Given the description of an element on the screen output the (x, y) to click on. 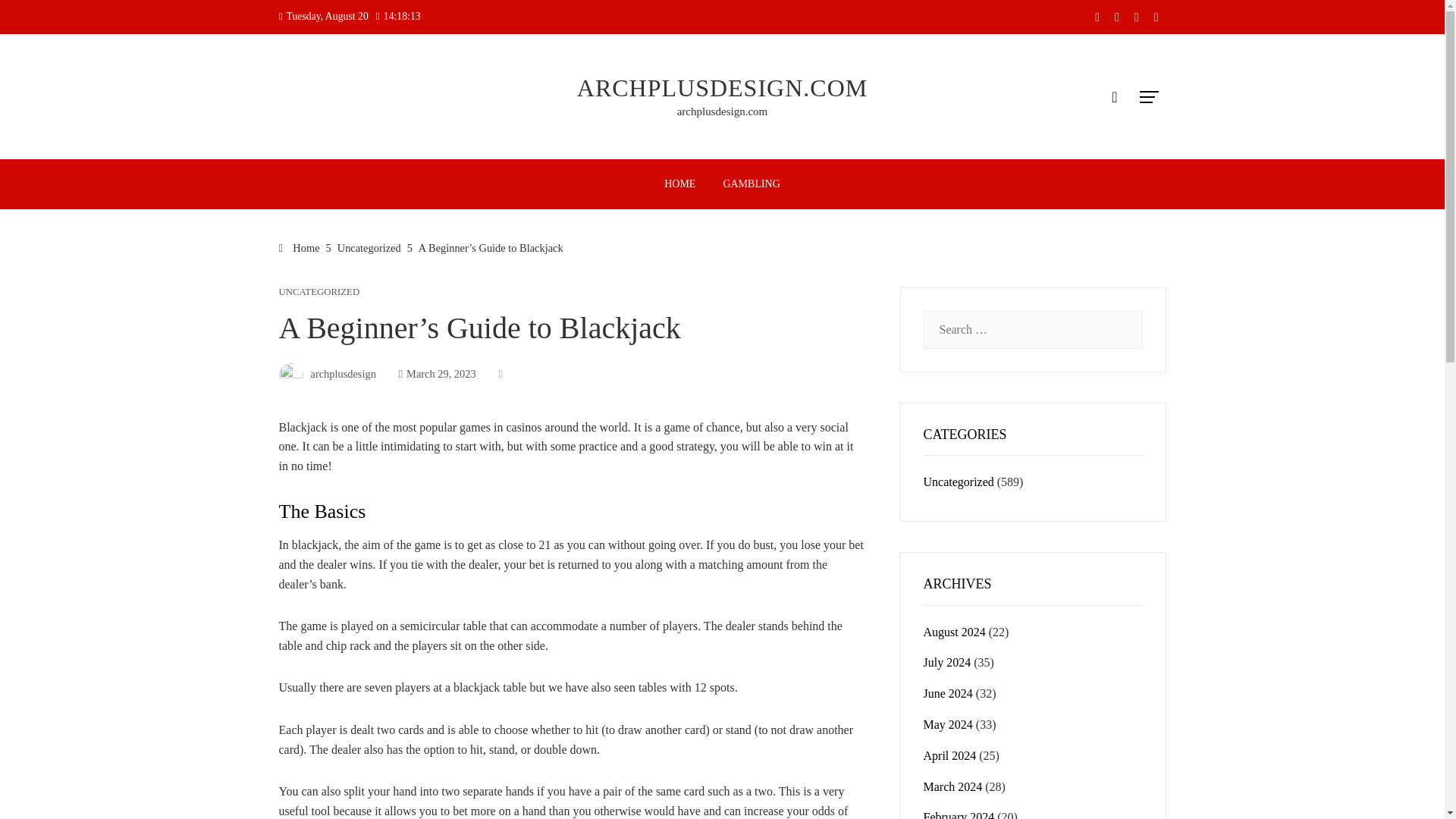
Home (299, 247)
August 2024 (954, 631)
April 2024 (949, 755)
GAMBLING (750, 183)
June 2024 (947, 693)
Uncategorized (369, 247)
UNCATEGORIZED (319, 292)
July 2024 (947, 662)
HOME (679, 183)
May 2024 (947, 724)
